Given the description of an element on the screen output the (x, y) to click on. 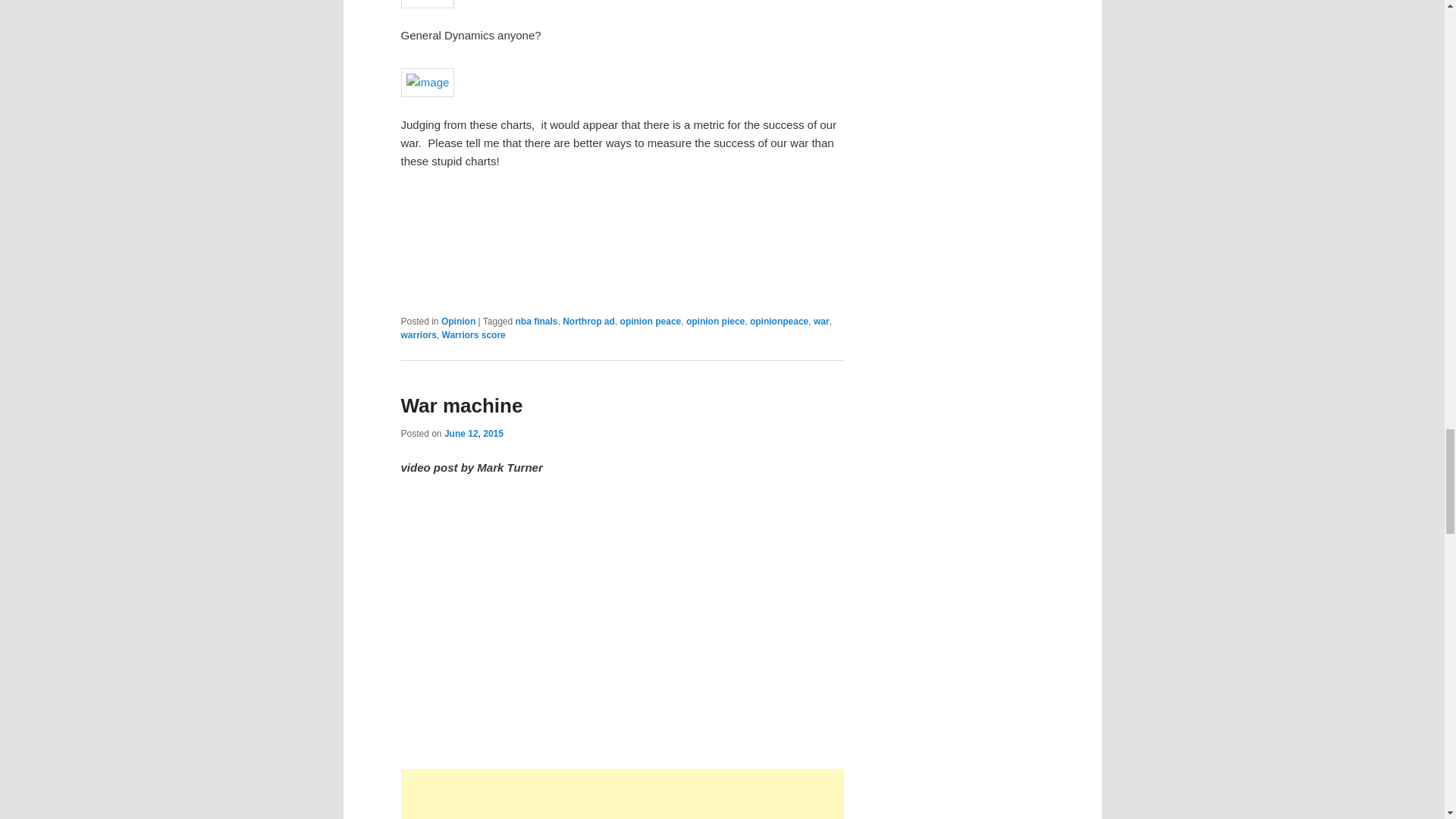
Warriors score (473, 335)
war (821, 321)
opinion piece (714, 321)
warriors (417, 335)
War machine (621, 620)
opinionpeace (778, 321)
Northrop ad (588, 321)
June 12, 2015 (473, 432)
opinion peace (650, 321)
nba finals (536, 321)
